Given the description of an element on the screen output the (x, y) to click on. 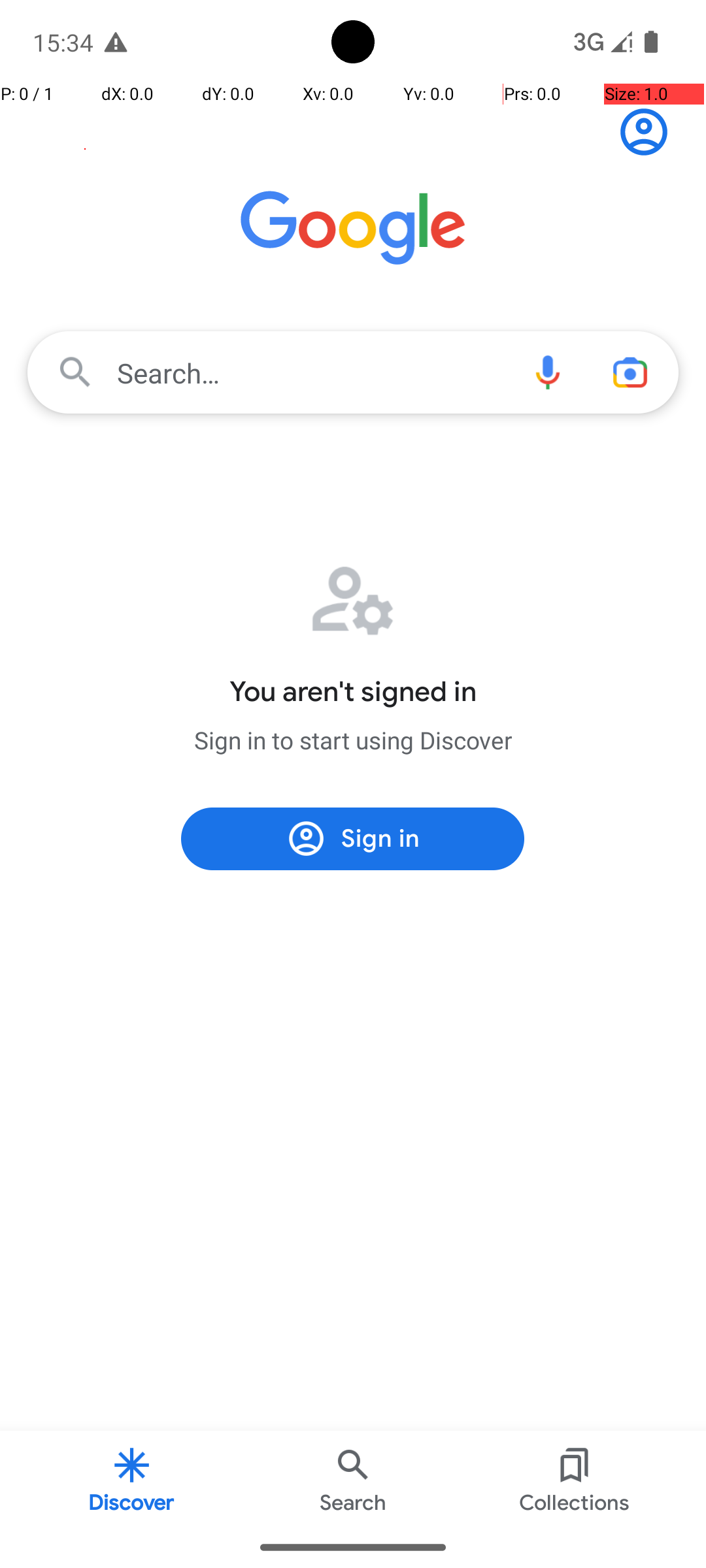
Sign in Element type: android.widget.FrameLayout (650, 131)
Search… Element type: android.view.ViewGroup (352, 372)
Voice search Element type: android.widget.ImageButton (547, 372)
Camera search Element type: android.widget.ImageButton (629, 372)
Discover Element type: android.widget.FrameLayout (131, 1478)
Search Element type: android.widget.FrameLayout (353, 1478)
Collections Button Element type: android.widget.FrameLayout (574, 1478)
You aren't signed in Element type: android.widget.TextView (352, 691)
Sign in to start using Discover Element type: android.widget.TextView (352, 739)
